Given the description of an element on the screen output the (x, y) to click on. 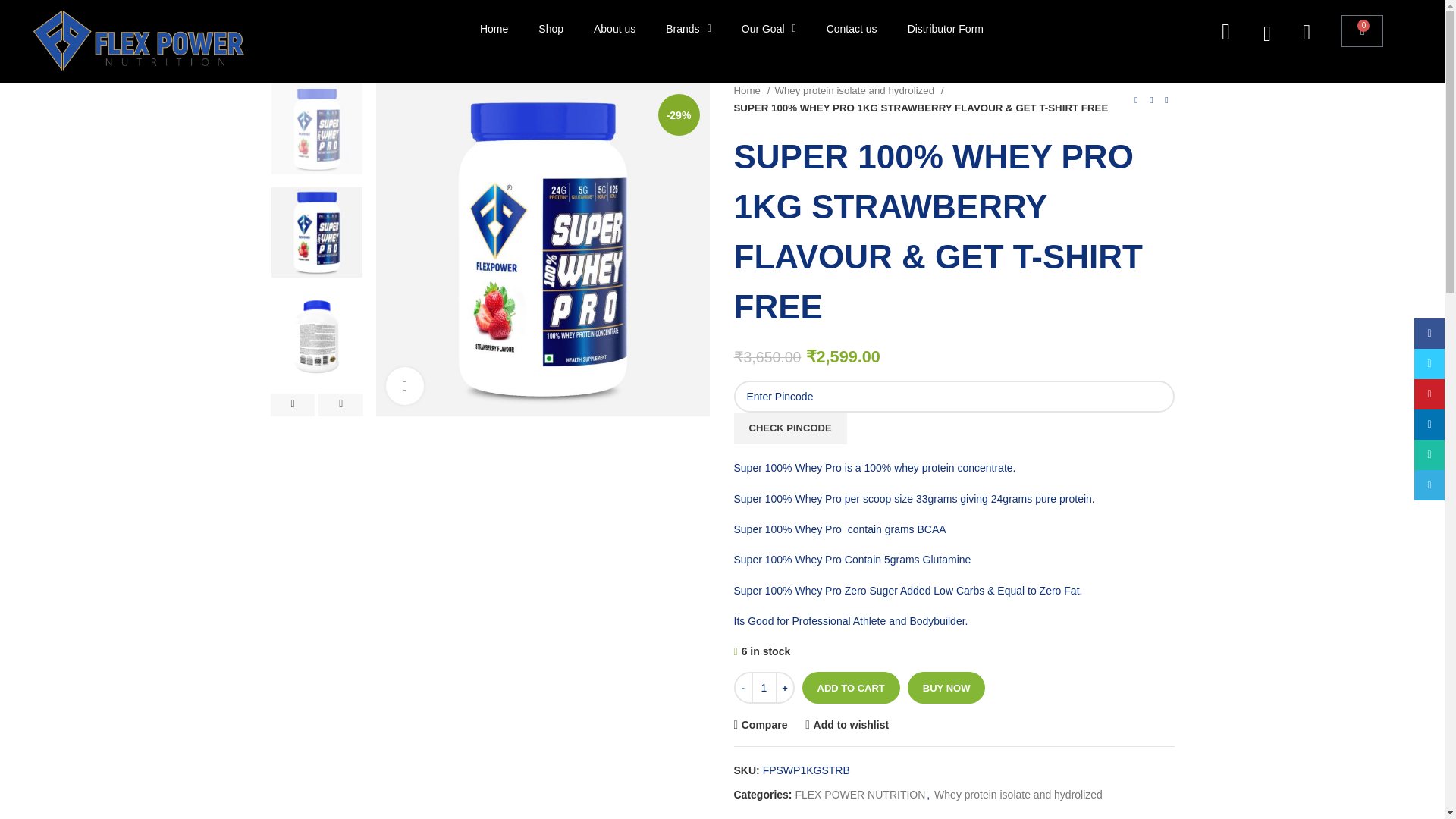
Distributor Form (945, 28)
Home (493, 28)
Shop (550, 28)
Brands (687, 28)
About us (614, 28)
Our Goal (768, 28)
FP SUPER WHEY PRO 1KG STRAWBERRY (542, 248)
Contact us (851, 28)
